Given the description of an element on the screen output the (x, y) to click on. 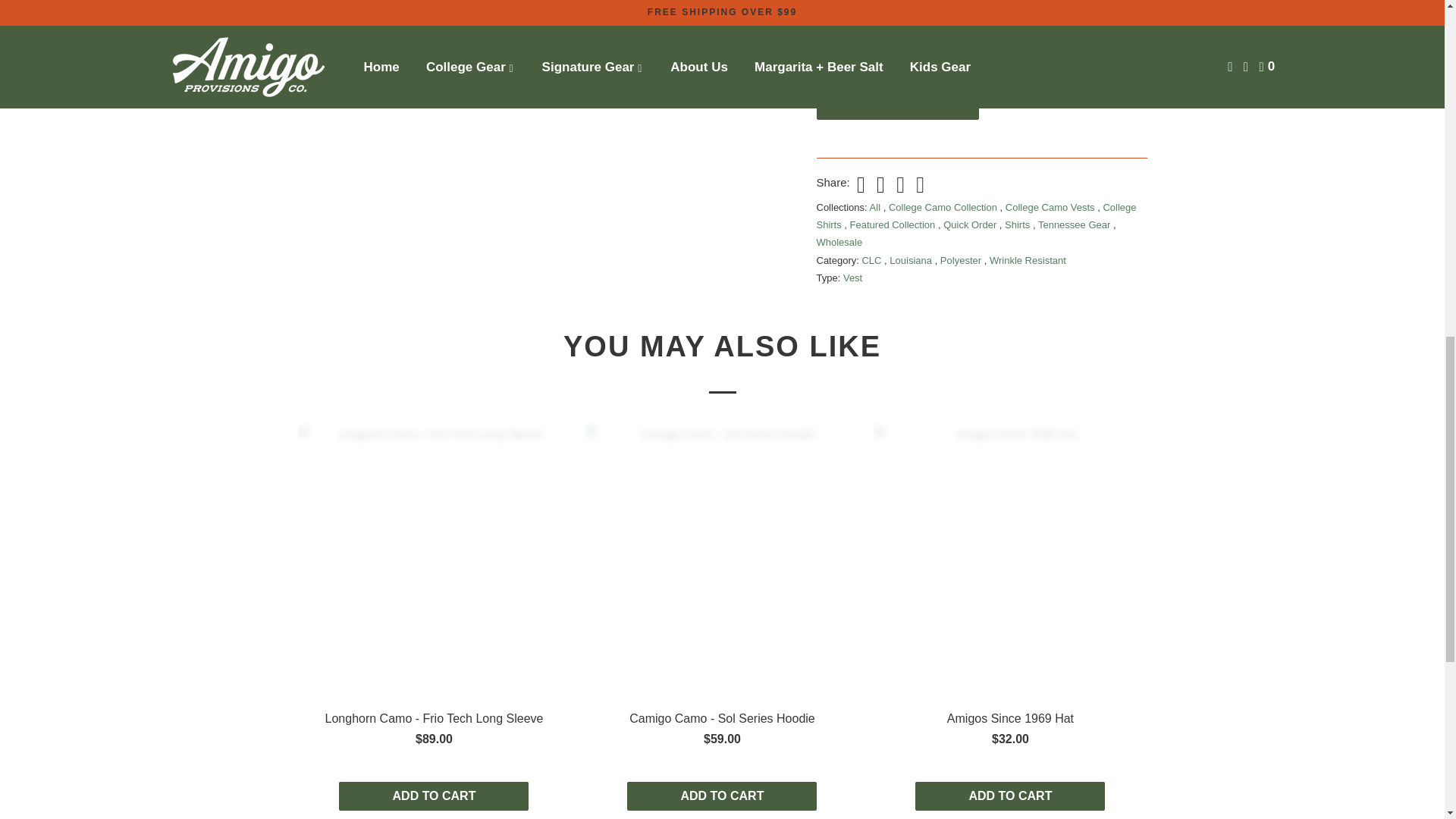
All (876, 206)
College Shirts (975, 215)
Featured Collection (893, 224)
College Camo Collection (944, 206)
Quick Order (970, 224)
Tennessee Gear (1075, 224)
Shirts (1018, 224)
College Camo Vests (1051, 206)
